Given the description of an element on the screen output the (x, y) to click on. 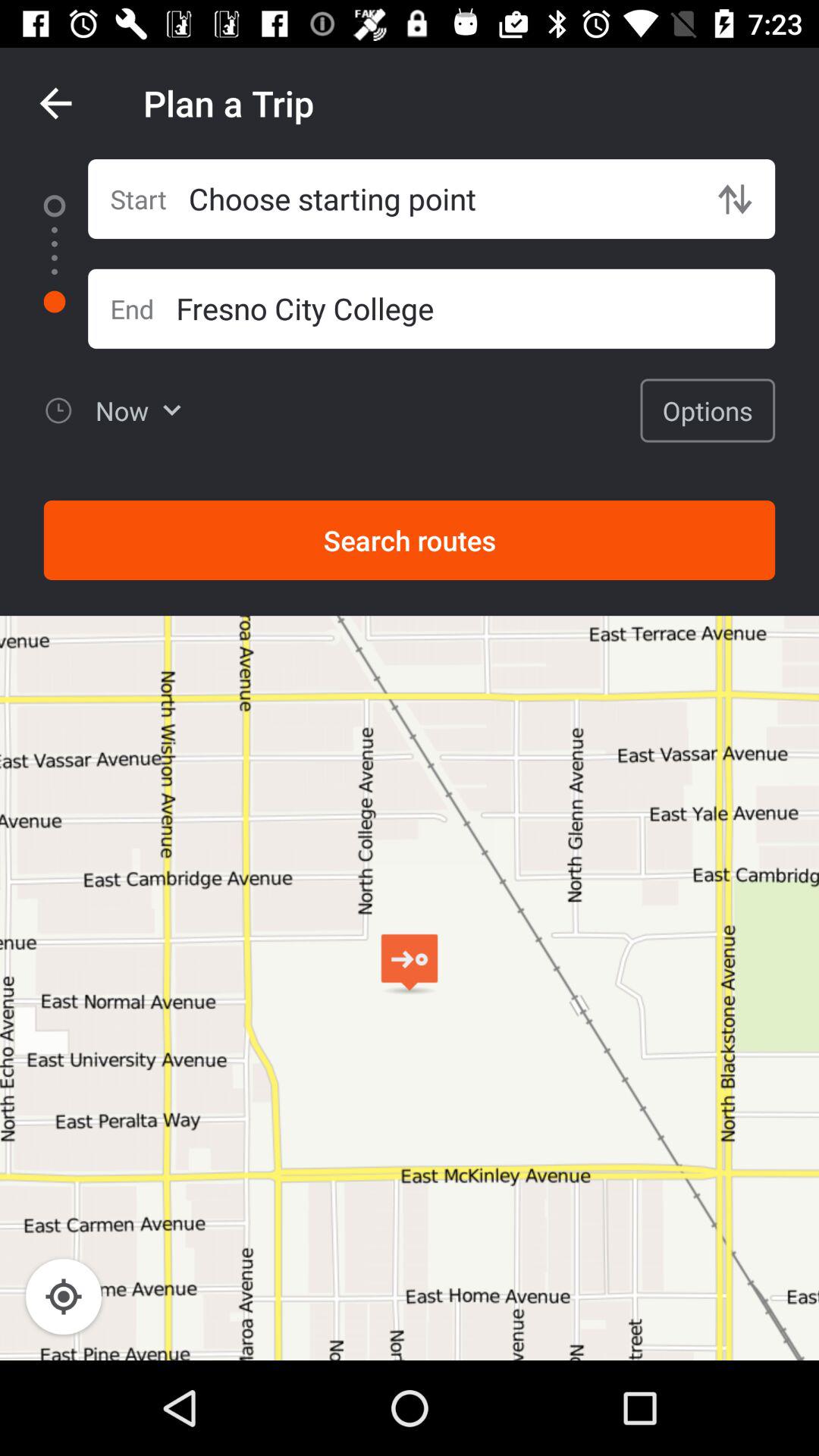
select the icon next to the start (441, 198)
